Given the description of an element on the screen output the (x, y) to click on. 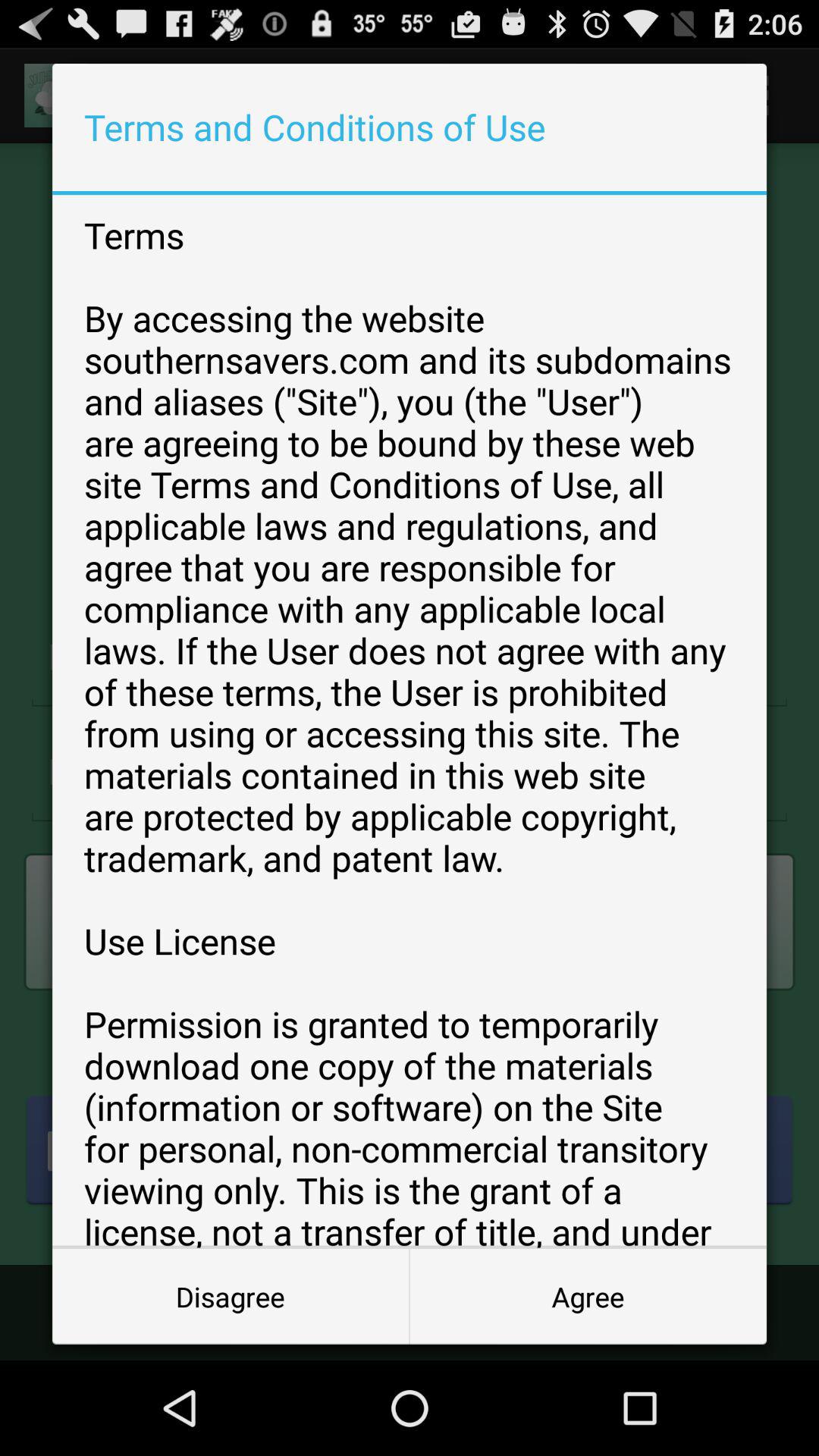
launch icon next to agree (230, 1296)
